Given the description of an element on the screen output the (x, y) to click on. 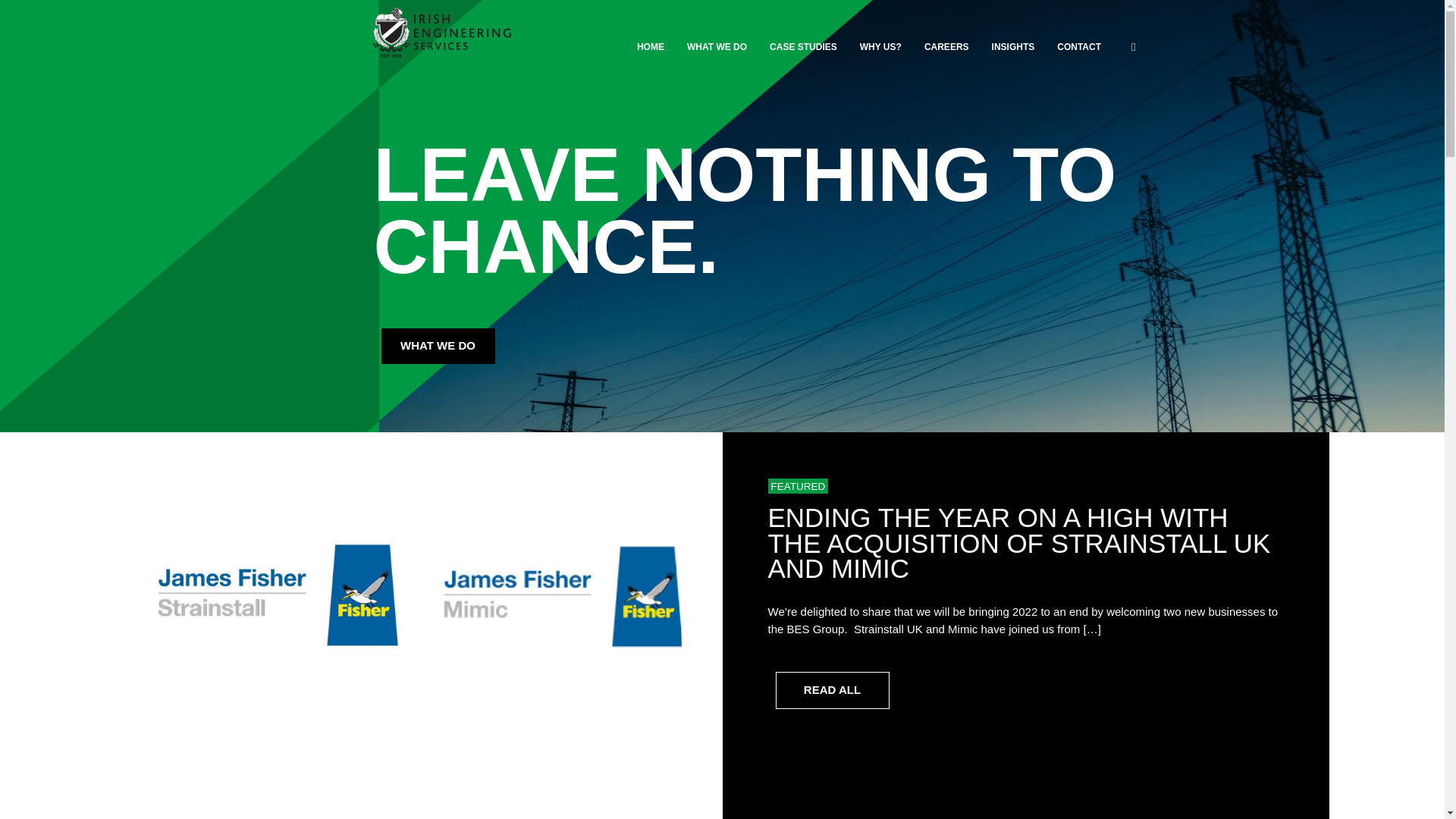
WHAT WE DO (437, 345)
CONTACT (1078, 47)
CASE STUDIES (803, 47)
WHAT WE DO (716, 47)
HOME (650, 47)
WHY US? (880, 47)
INSIGHTS (1013, 47)
CAREERS (946, 47)
